Given the description of an element on the screen output the (x, y) to click on. 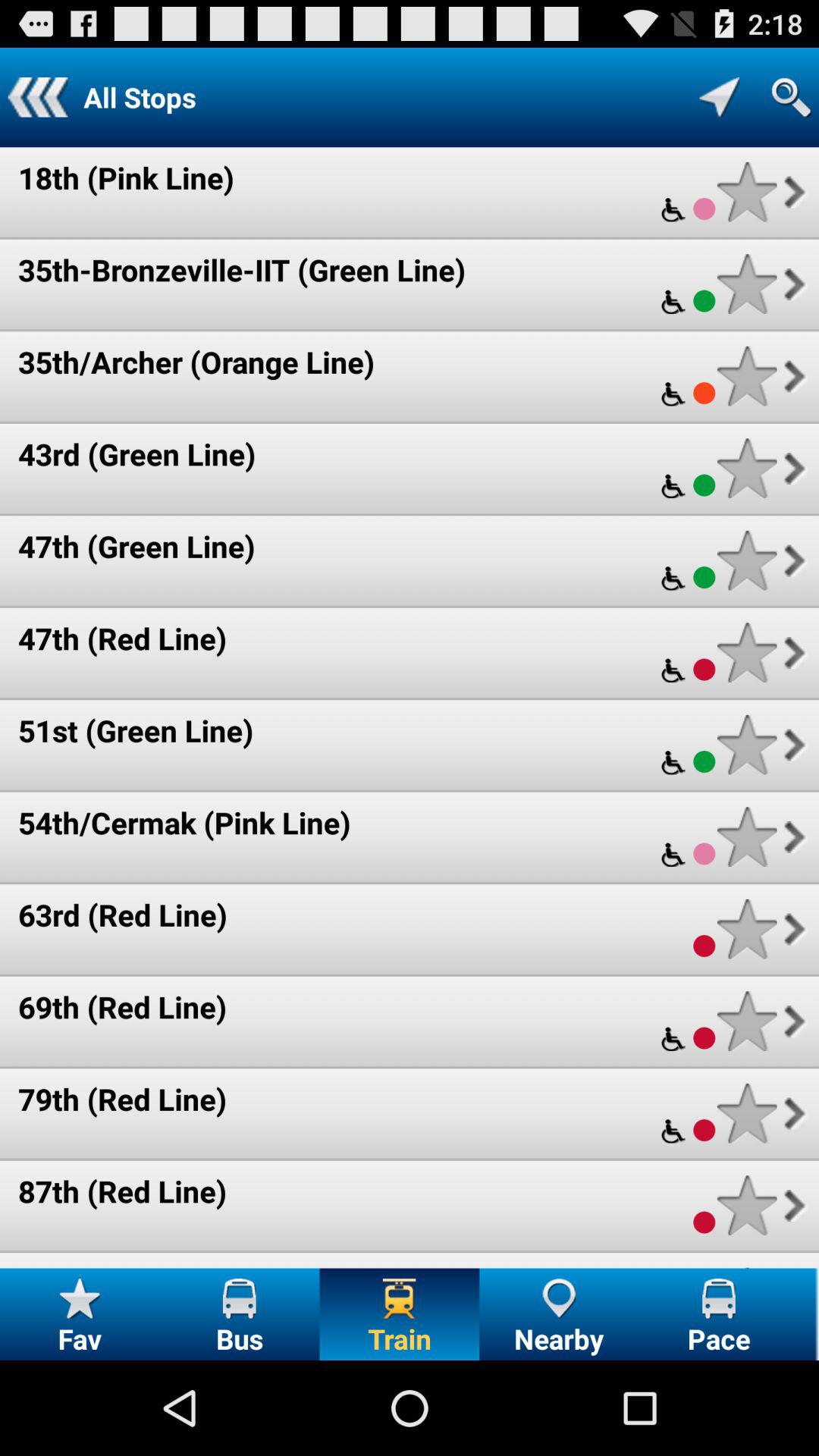
press item to the left of all stops icon (37, 97)
